Given the description of an element on the screen output the (x, y) to click on. 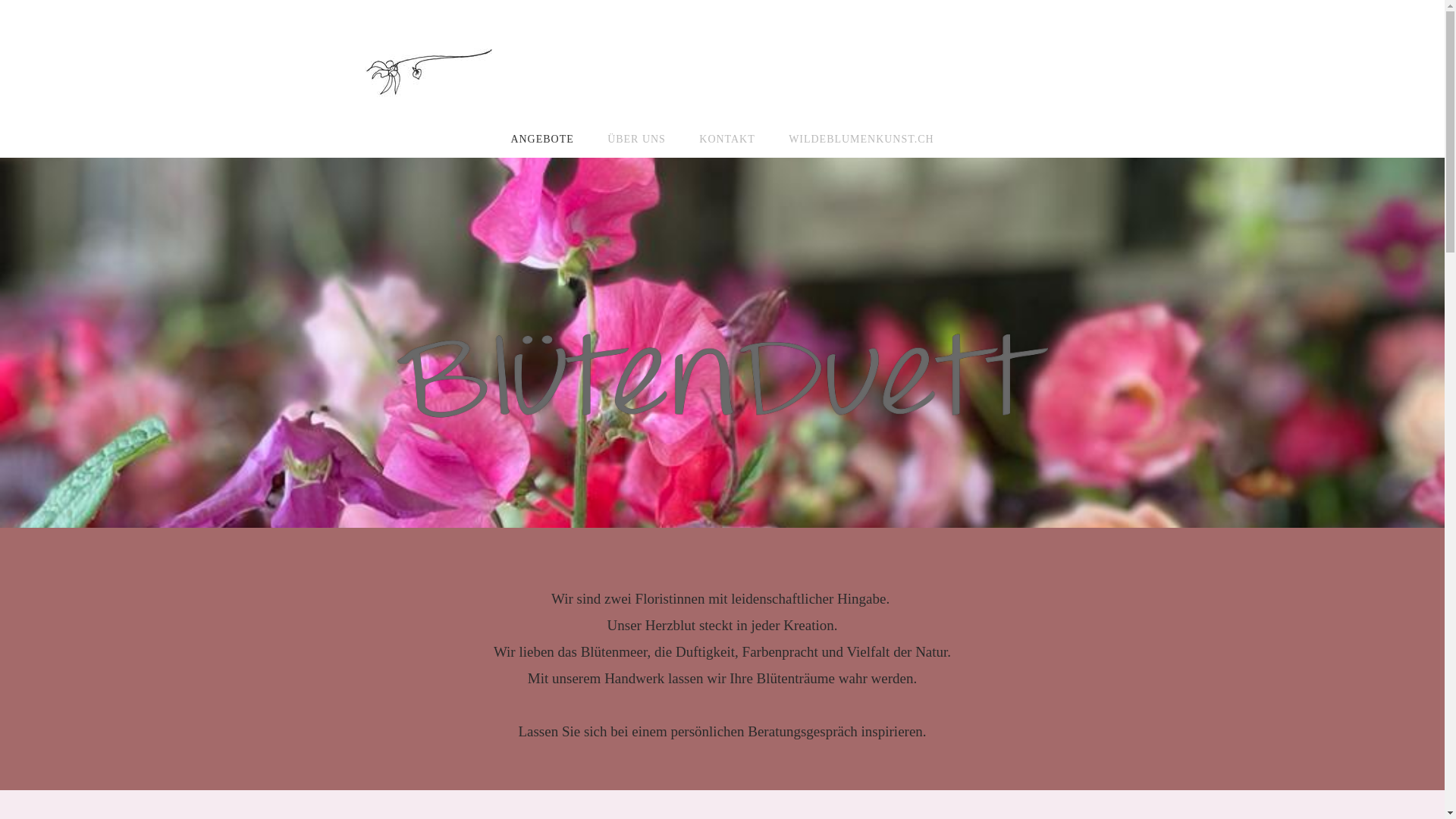
ANGEBOTE Element type: text (541, 139)
WILDEBLUMENKUNST.CH Element type: text (860, 139)
KONTAKT Element type: text (726, 139)
